Given the description of an element on the screen output the (x, y) to click on. 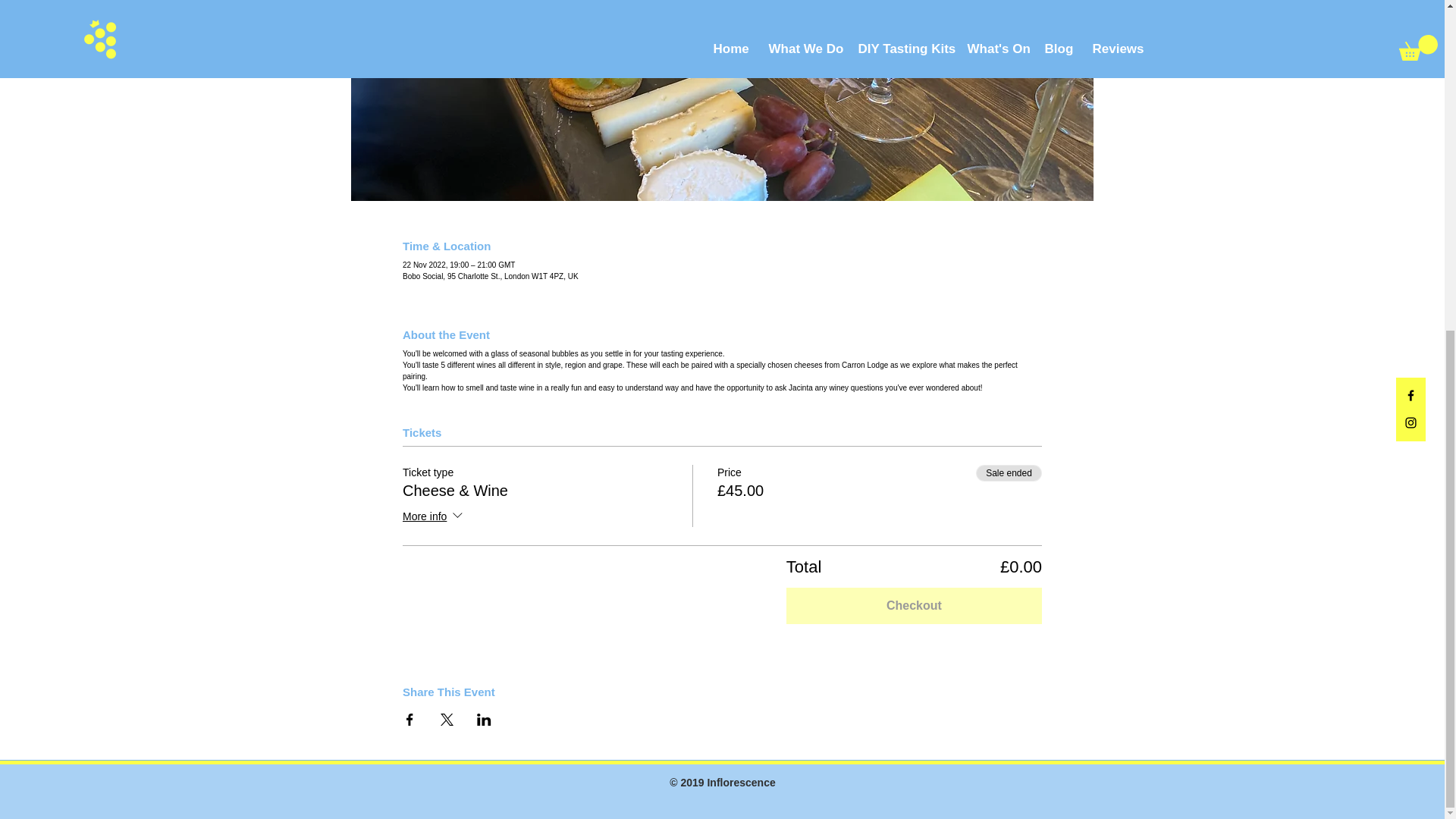
Checkout (914, 606)
More info (434, 516)
